Given the description of an element on the screen output the (x, y) to click on. 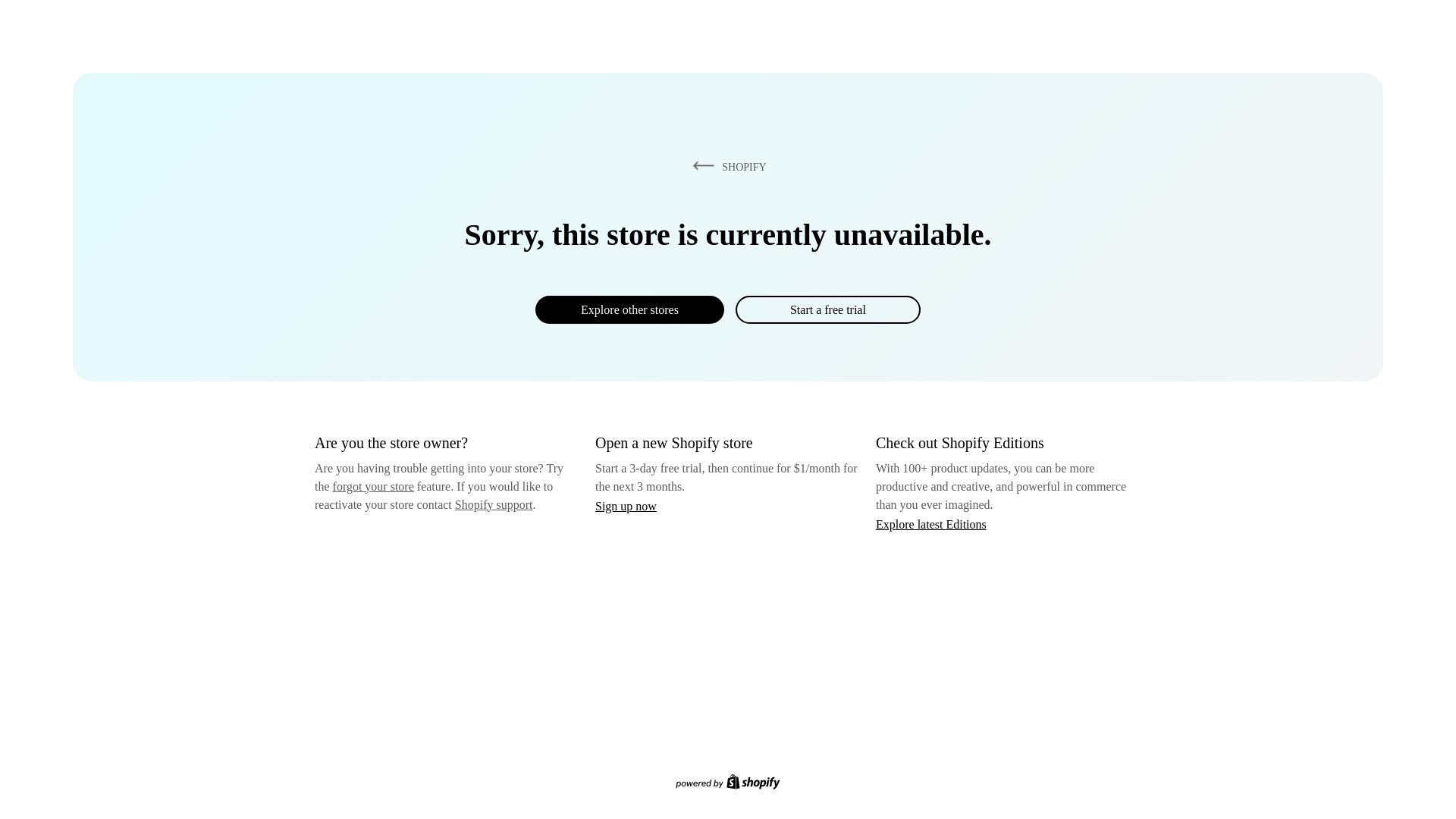
Explore other stores (629, 309)
forgot your store (373, 486)
SHOPIFY (726, 166)
Explore latest Editions (931, 523)
Sign up now (625, 505)
Shopify support (493, 504)
Start a free trial (827, 309)
